Given the description of an element on the screen output the (x, y) to click on. 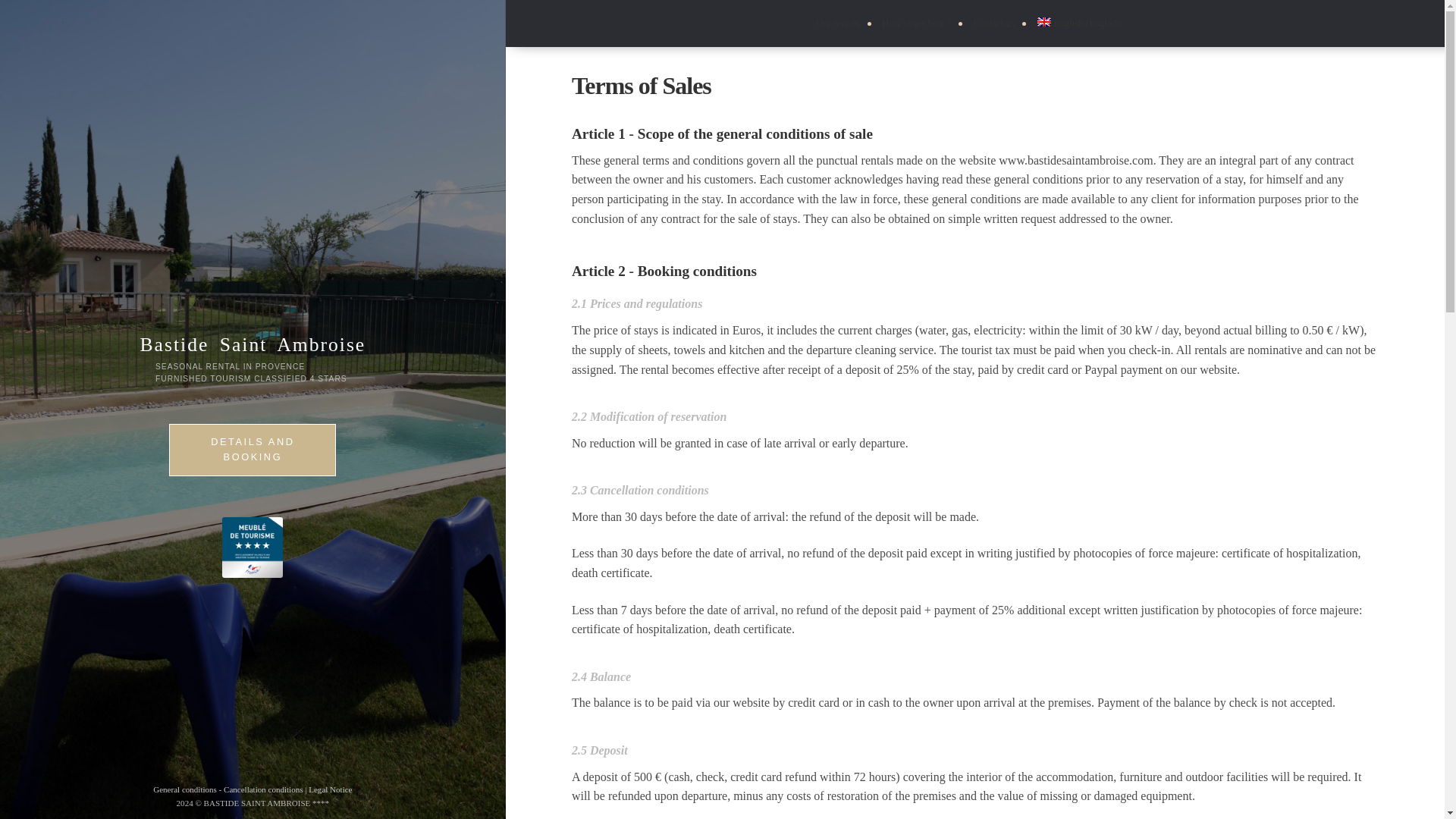
General conditions - Cancellation conditions (228, 788)
Legal Notice (330, 788)
How to get here ? (916, 23)
Our rentals (837, 23)
DETAILS AND BOOKING (252, 449)
English (1043, 21)
Contact us (994, 23)
English (1079, 23)
Bastide Saint Ambroise (252, 344)
